Given the description of an element on the screen output the (x, y) to click on. 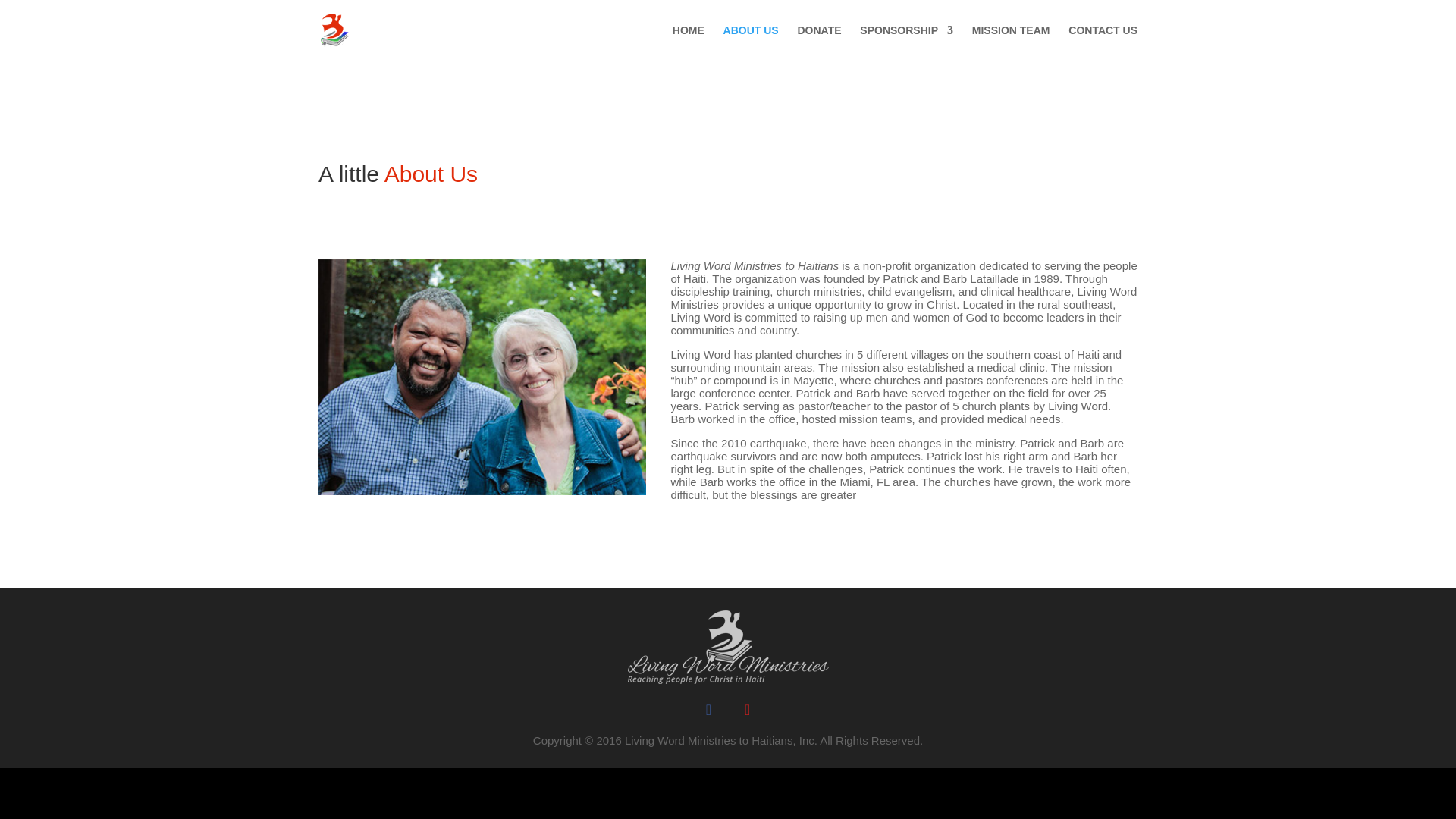
DONATE (818, 42)
CONTACT US (1102, 42)
MISSION TEAM (1010, 42)
ABOUT US (750, 42)
HOME (688, 42)
SPONSORSHIP (906, 42)
